Given the description of an element on the screen output the (x, y) to click on. 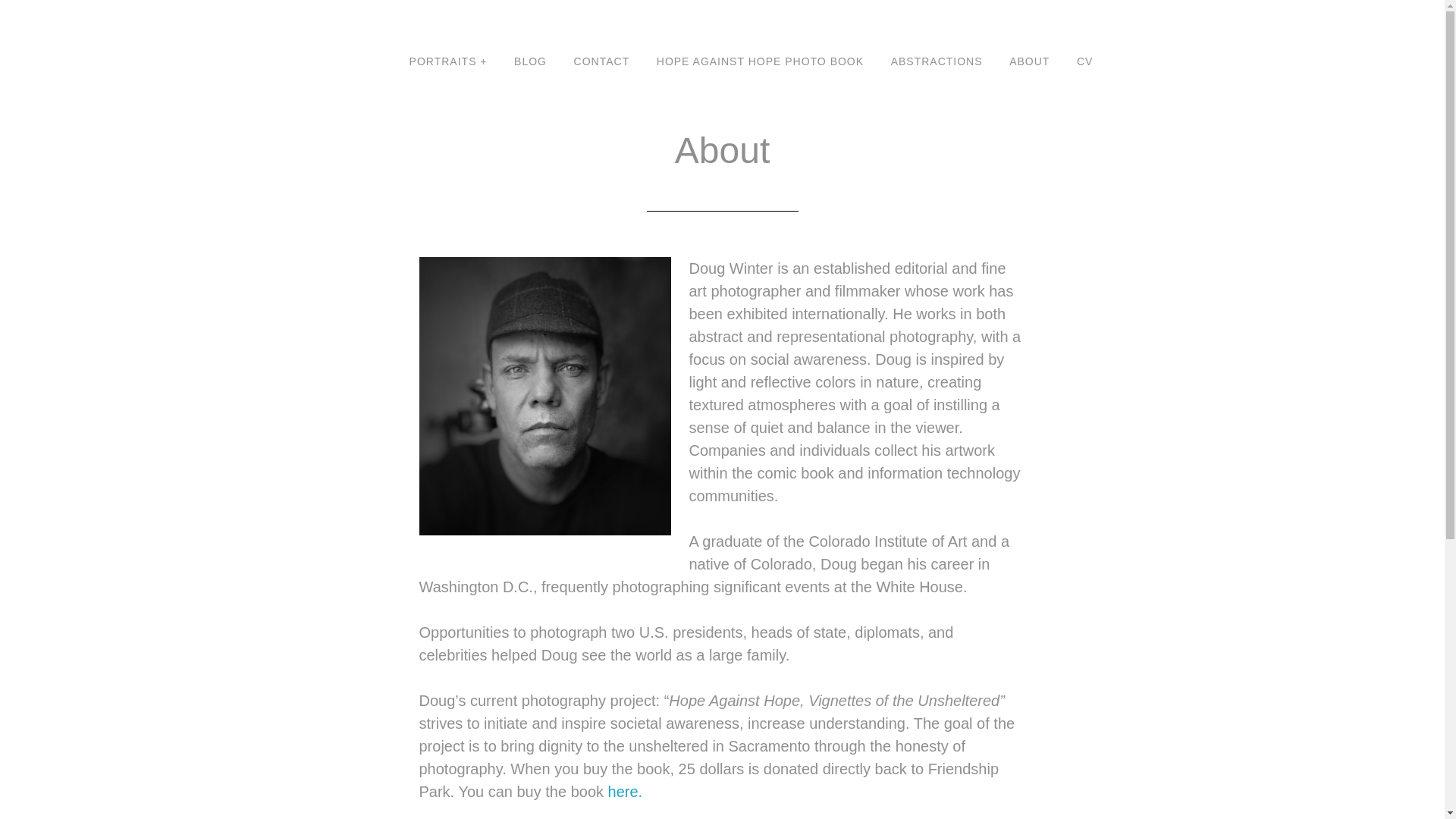
here. (625, 791)
CONTACT (602, 61)
HOPE AGAINST HOPE PHOTO BOOK (760, 61)
ABOUT (1029, 61)
CV (1084, 61)
BLOG (529, 61)
ABSTRACTIONS (936, 61)
DOUG WINTER STUDIO (382, 19)
